Given the description of an element on the screen output the (x, y) to click on. 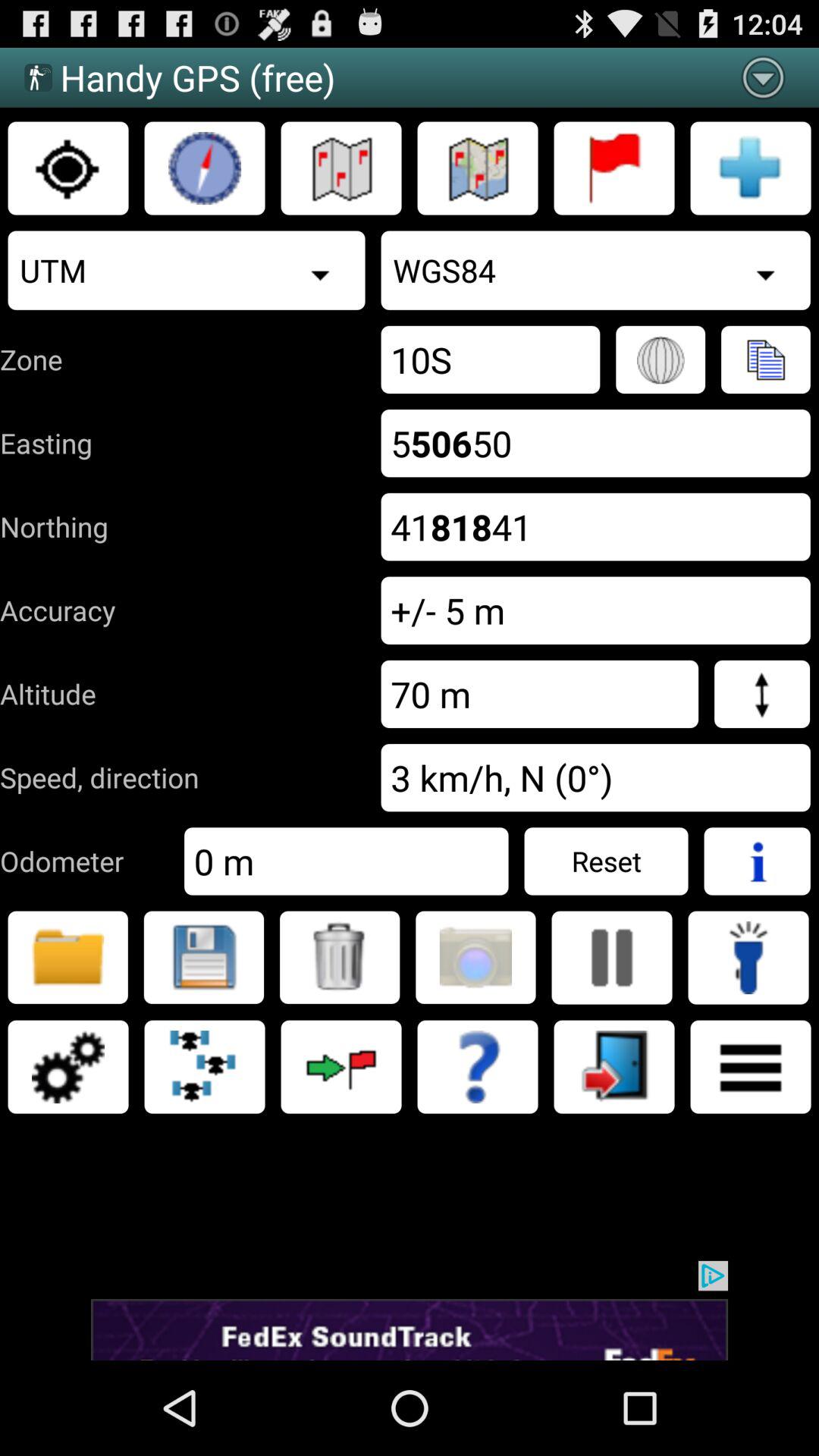
view map (477, 167)
